Given the description of an element on the screen output the (x, y) to click on. 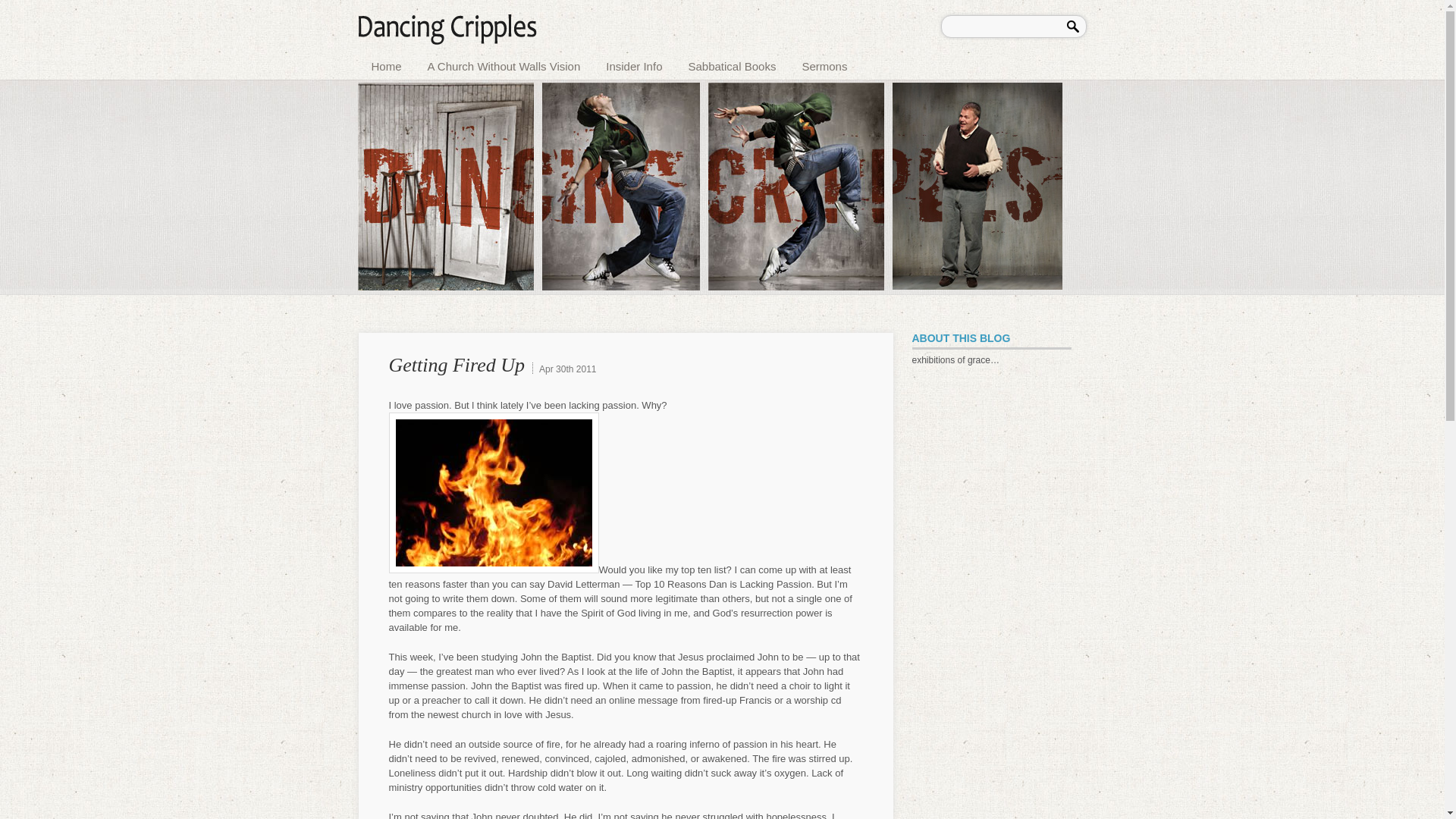
Search (1074, 23)
Getting Fired Up (456, 364)
Search (1074, 23)
Sabbatical Books (731, 64)
A Church Without Walls Vision (504, 64)
Insider Info (633, 64)
Home (386, 64)
Sermons (824, 64)
fire (493, 492)
